Given the description of an element on the screen output the (x, y) to click on. 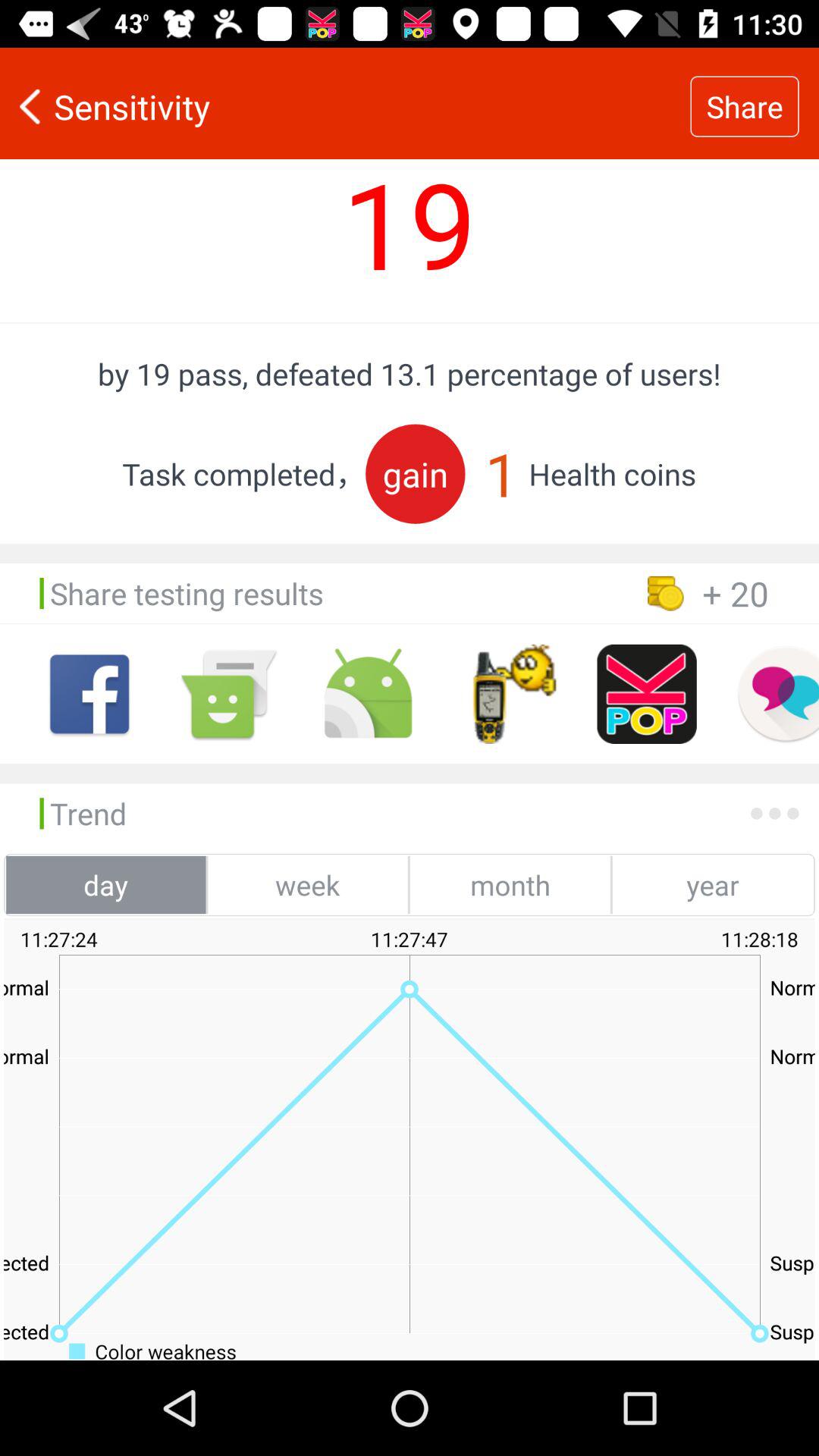
open the month icon (510, 884)
